Given the description of an element on the screen output the (x, y) to click on. 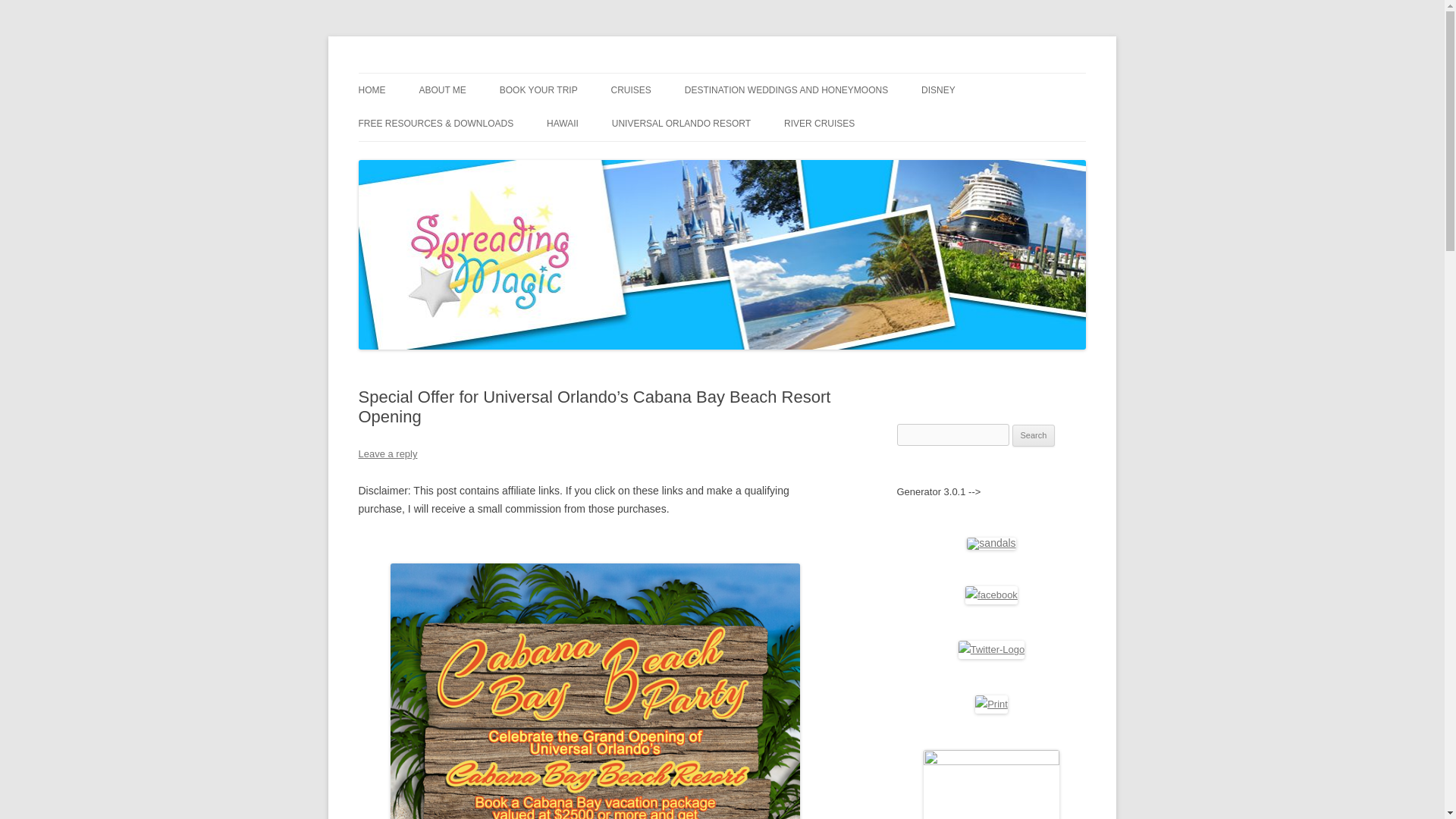
BOOK YOUR TRIP (538, 90)
Spreading Magic (436, 72)
RIVER CRUISES (819, 123)
ALL-INCLUSIVES (759, 122)
Leave a reply (387, 453)
sandals by DestinationsToExplore, on Flickr (990, 542)
DESTINATION WEDDINGS AND HONEYMOONS (786, 90)
Print by DestinationsInFlorida, on Flickr (991, 704)
ABOUT ME (442, 90)
HAWAII (562, 123)
CRUISES (630, 90)
DISCLOSURE (494, 122)
DISNEY CRUISE LINE (686, 122)
ADVENTURES BY DISNEY (997, 122)
